Given the description of an element on the screen output the (x, y) to click on. 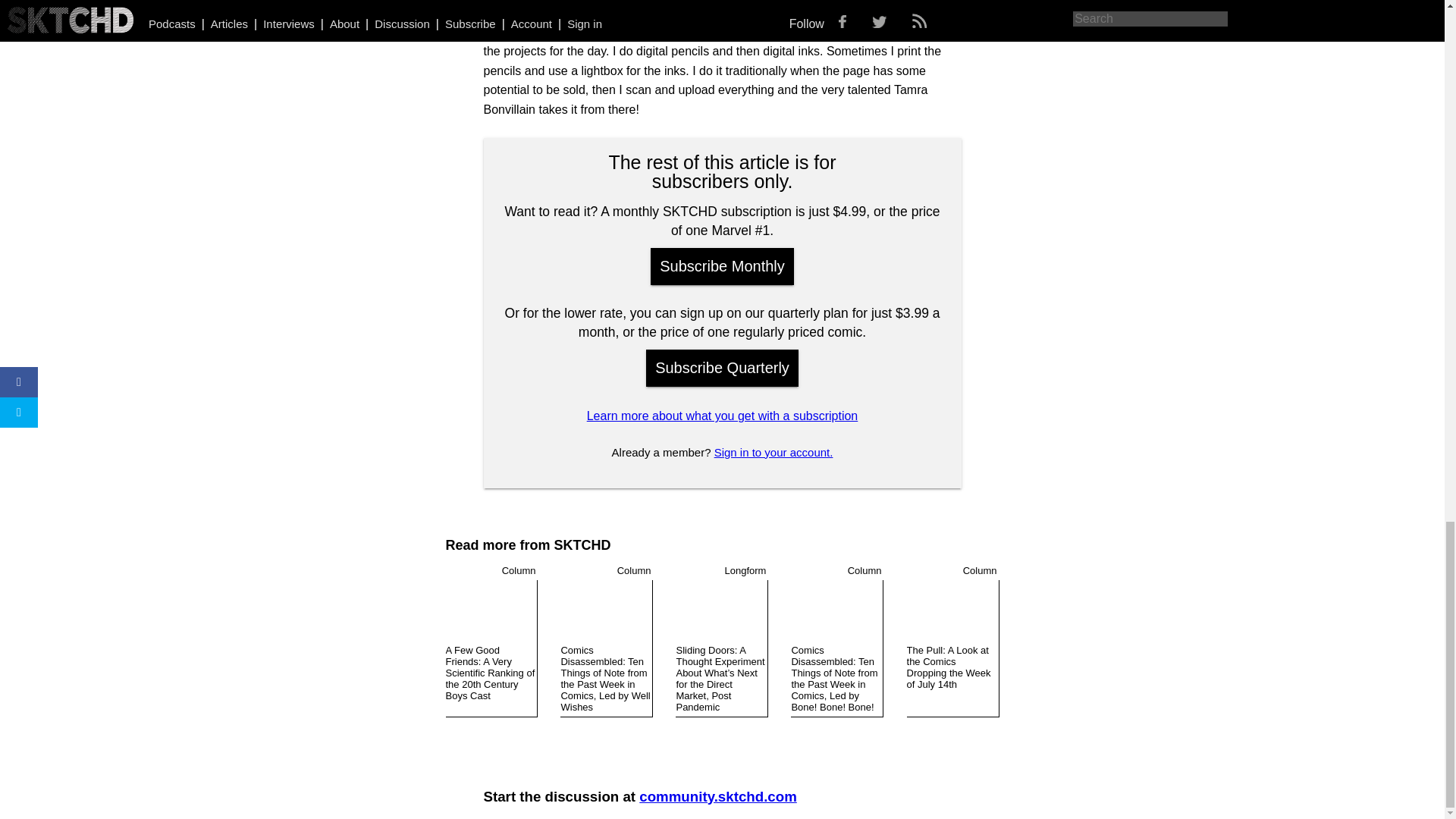
community.sktchd.com (717, 796)
Sign in to your account. (773, 451)
Subscribe Quarterly (721, 367)
Learn more about what you get with a subscription (722, 415)
Subscribe Monthly (721, 266)
